Given the description of an element on the screen output the (x, y) to click on. 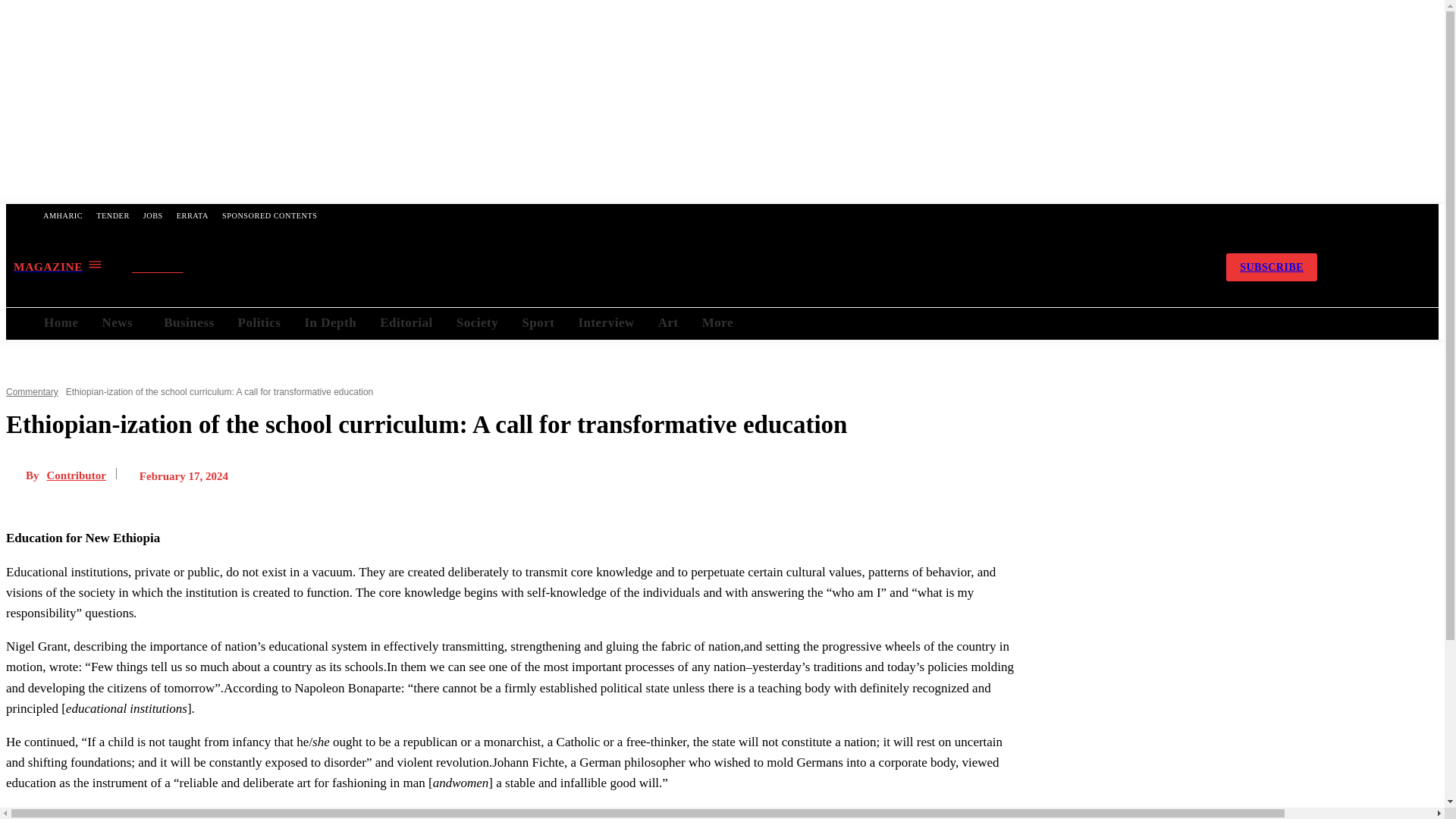
JOBS (153, 216)
SPONSORED CONTENTS (269, 216)
The Reporter Ethiopia, Ethiopian News (665, 267)
Telegram (1112, 267)
AMHARIC (62, 216)
The Reporter Ethiopia, Ethiopian News (665, 267)
Facebook (1073, 267)
MAGAZINE (57, 266)
SEARCH (170, 267)
ERRATA (192, 216)
